Given the description of an element on the screen output the (x, y) to click on. 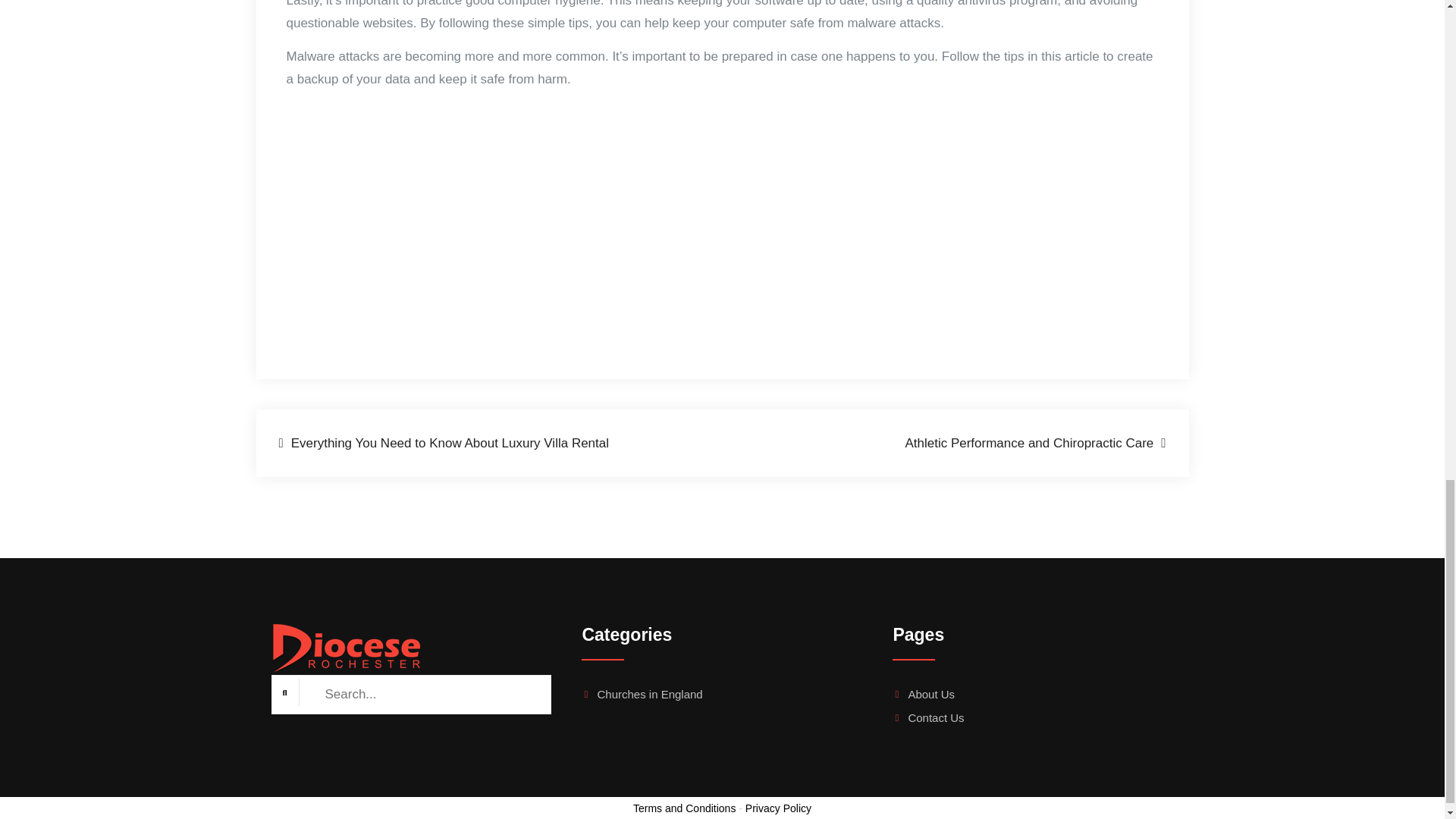
Contact Us (935, 717)
YouTube video player (498, 210)
Churches in England (697, 694)
Everything You Need to Know About Luxury Villa Rental (444, 443)
Athletic Performance and Chiropractic Care (1035, 443)
About Us (931, 694)
Terms and Conditions (684, 808)
Privacy Policy (777, 808)
